Given the description of an element on the screen output the (x, y) to click on. 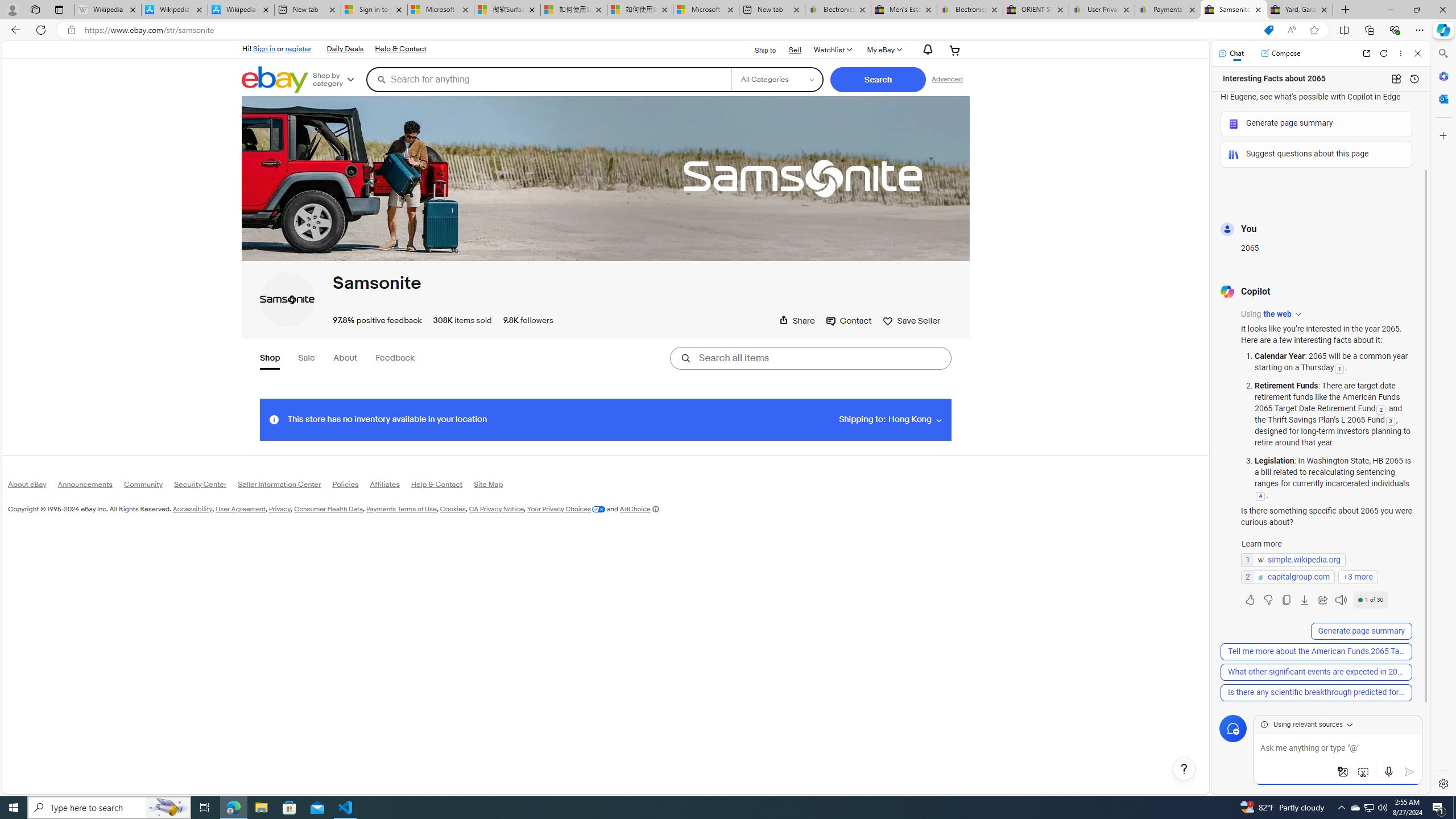
Information (273, 419)
Policies (350, 486)
Payments Terms of Use | eBay.com (1167, 9)
Policies (350, 486)
Security Center (206, 486)
Seller Information Center (285, 486)
Yard, Garden & Outdoor Living (1300, 9)
